Given the description of an element on the screen output the (x, y) to click on. 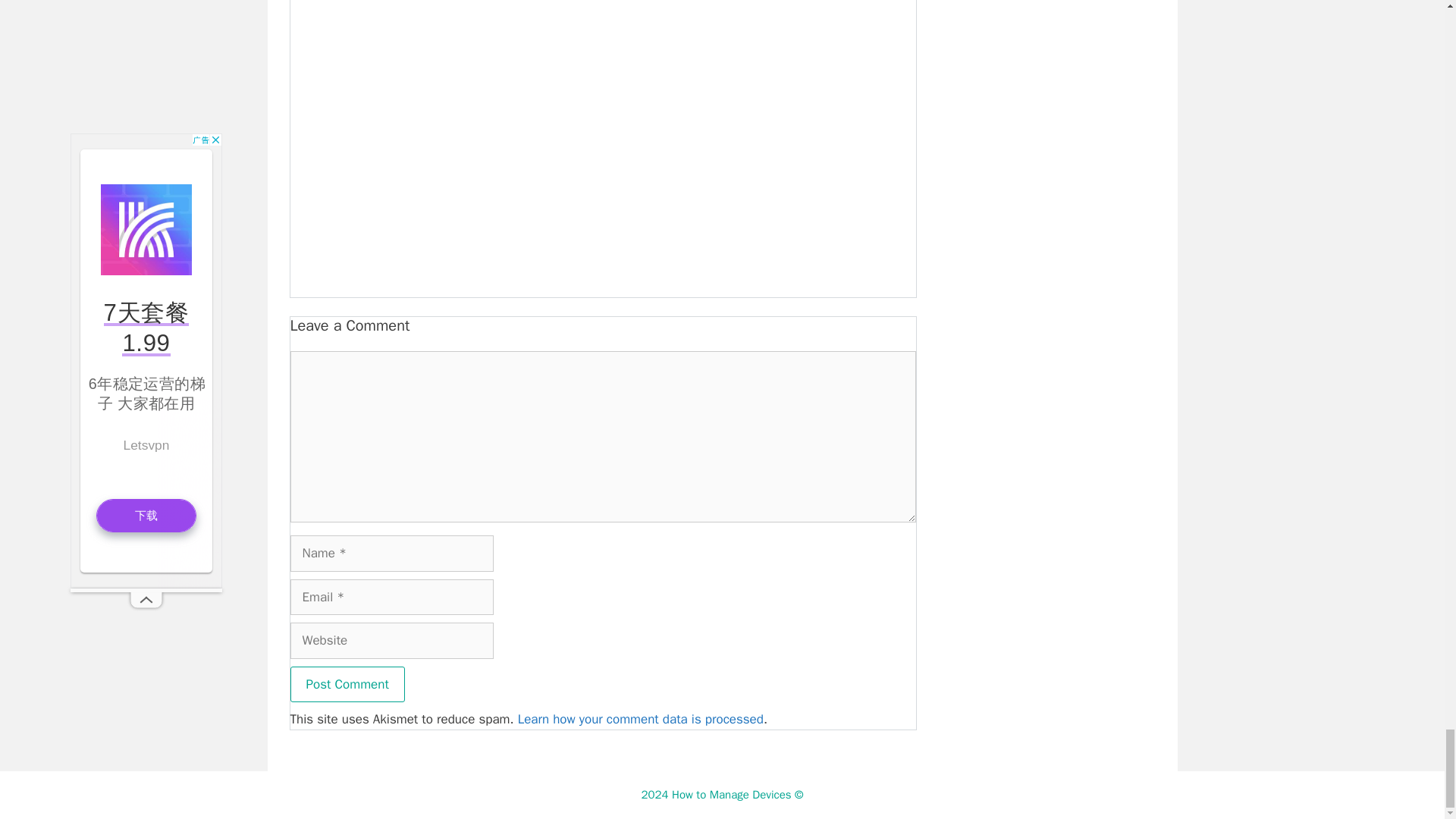
Post Comment (346, 684)
Post Comment (346, 684)
Learn how your comment data is processed (640, 719)
